Given the description of an element on the screen output the (x, y) to click on. 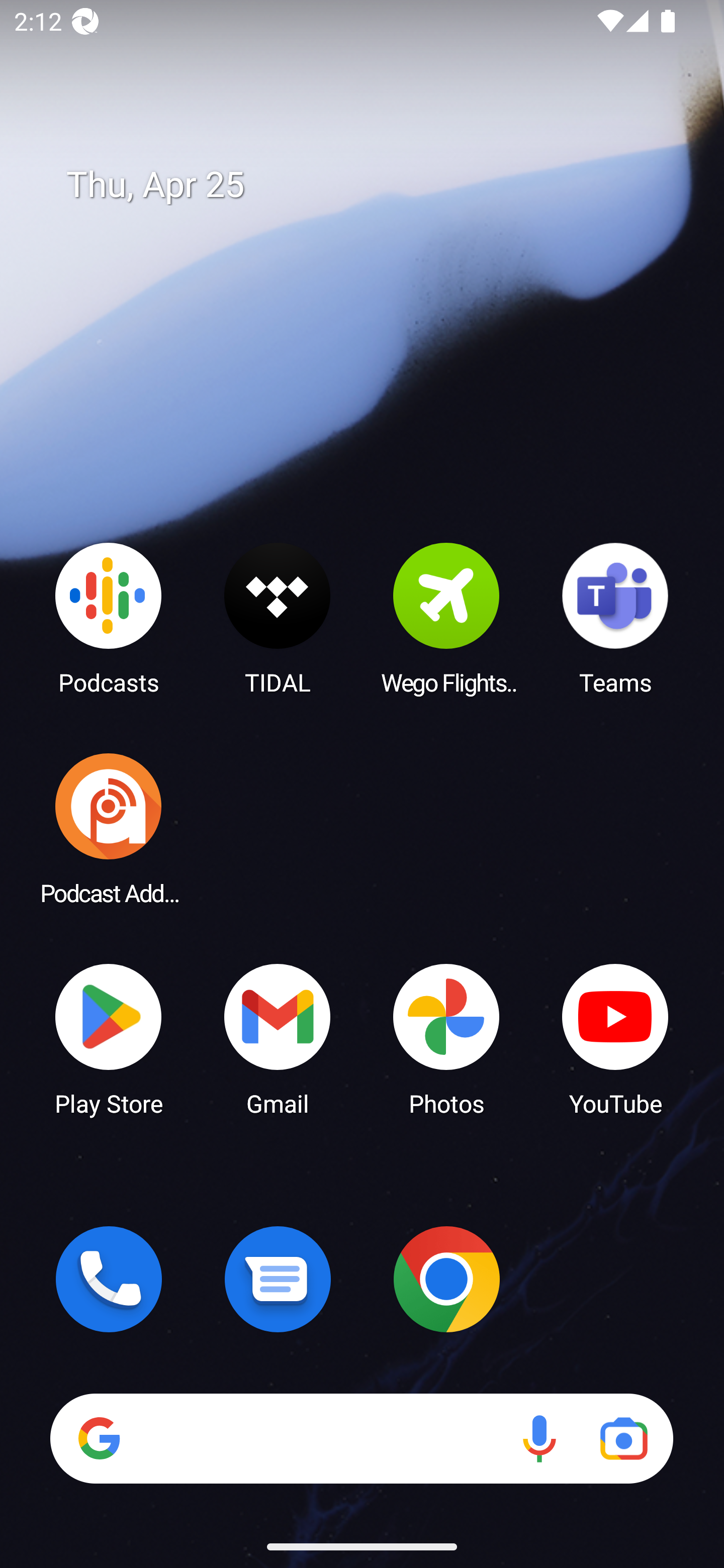
Thu, Apr 25 (375, 184)
Podcasts (108, 617)
TIDAL (277, 617)
Wego Flights & Hotels (445, 617)
Teams (615, 617)
Podcast Addict (108, 828)
Play Store (108, 1038)
Gmail (277, 1038)
Photos (445, 1038)
YouTube (615, 1038)
Phone (108, 1279)
Messages (277, 1279)
Chrome (446, 1279)
Search Voice search Google Lens (361, 1438)
Voice search (539, 1438)
Google Lens (623, 1438)
